Given the description of an element on the screen output the (x, y) to click on. 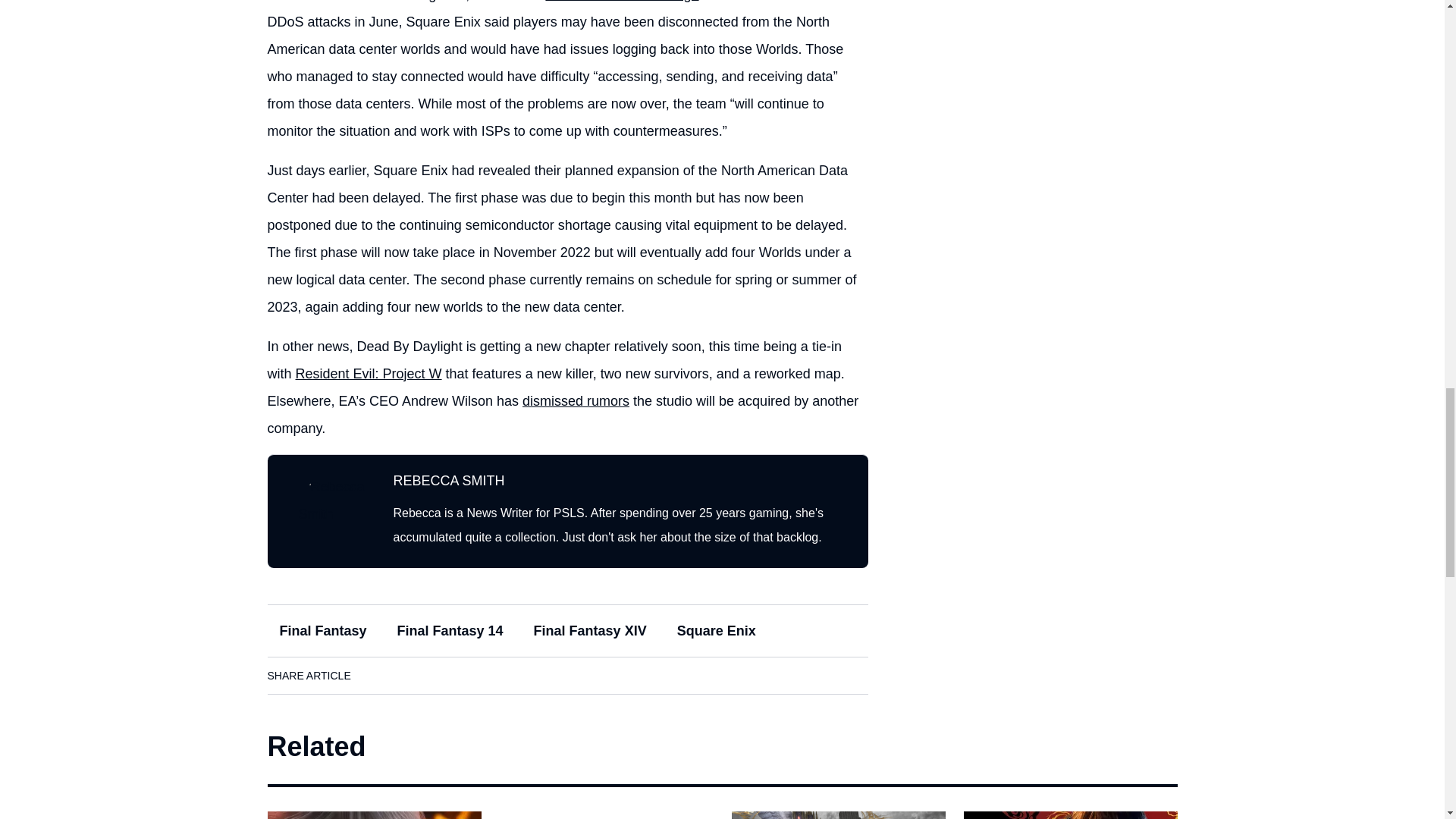
LinkedIn (420, 675)
Square Enix (716, 630)
Resident Evil: Project W (368, 373)
Pinterest (505, 675)
Final Fantasy XIV (590, 630)
Facebook (377, 675)
Twitter (463, 675)
dismissed rumors (575, 400)
almost identical message (621, 1)
REBECCA SMITH (448, 480)
Final Fantasy (322, 630)
Final Fantasy 14 (450, 630)
